Given the description of an element on the screen output the (x, y) to click on. 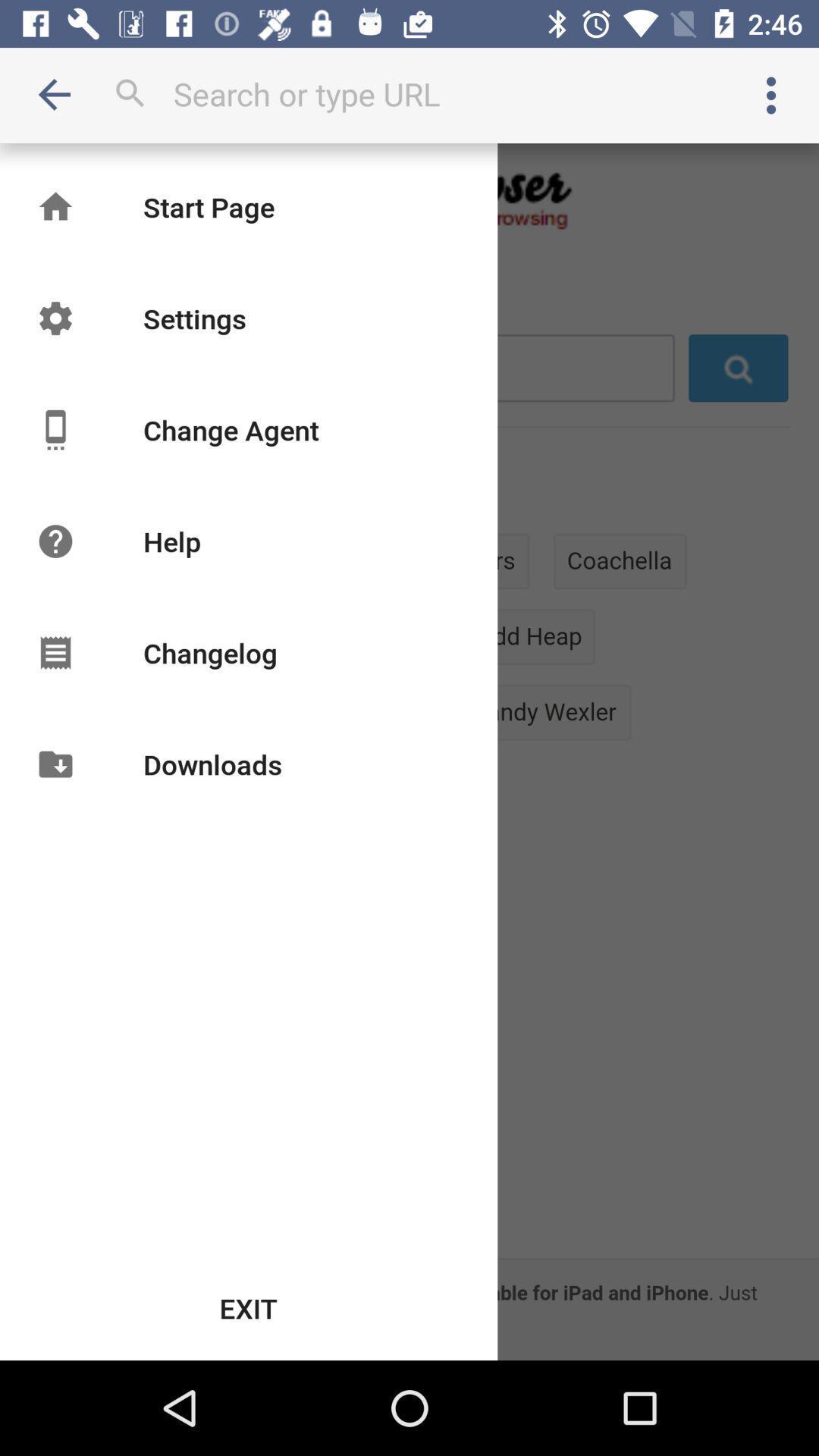
choose item above downloads (210, 652)
